Given the description of an element on the screen output the (x, y) to click on. 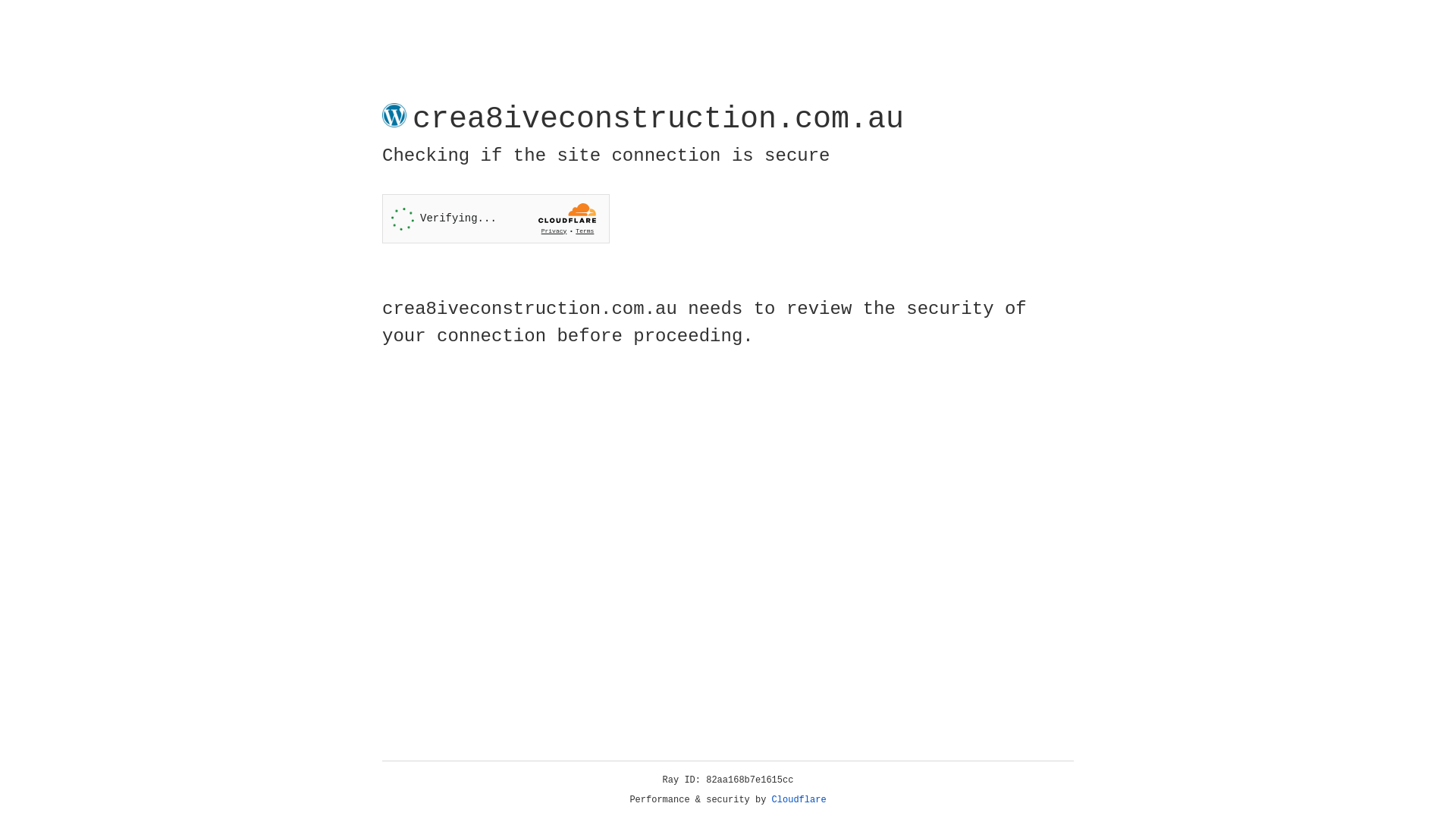
Cloudflare Element type: text (798, 799)
Widget containing a Cloudflare security challenge Element type: hover (495, 218)
